Given the description of an element on the screen output the (x, y) to click on. 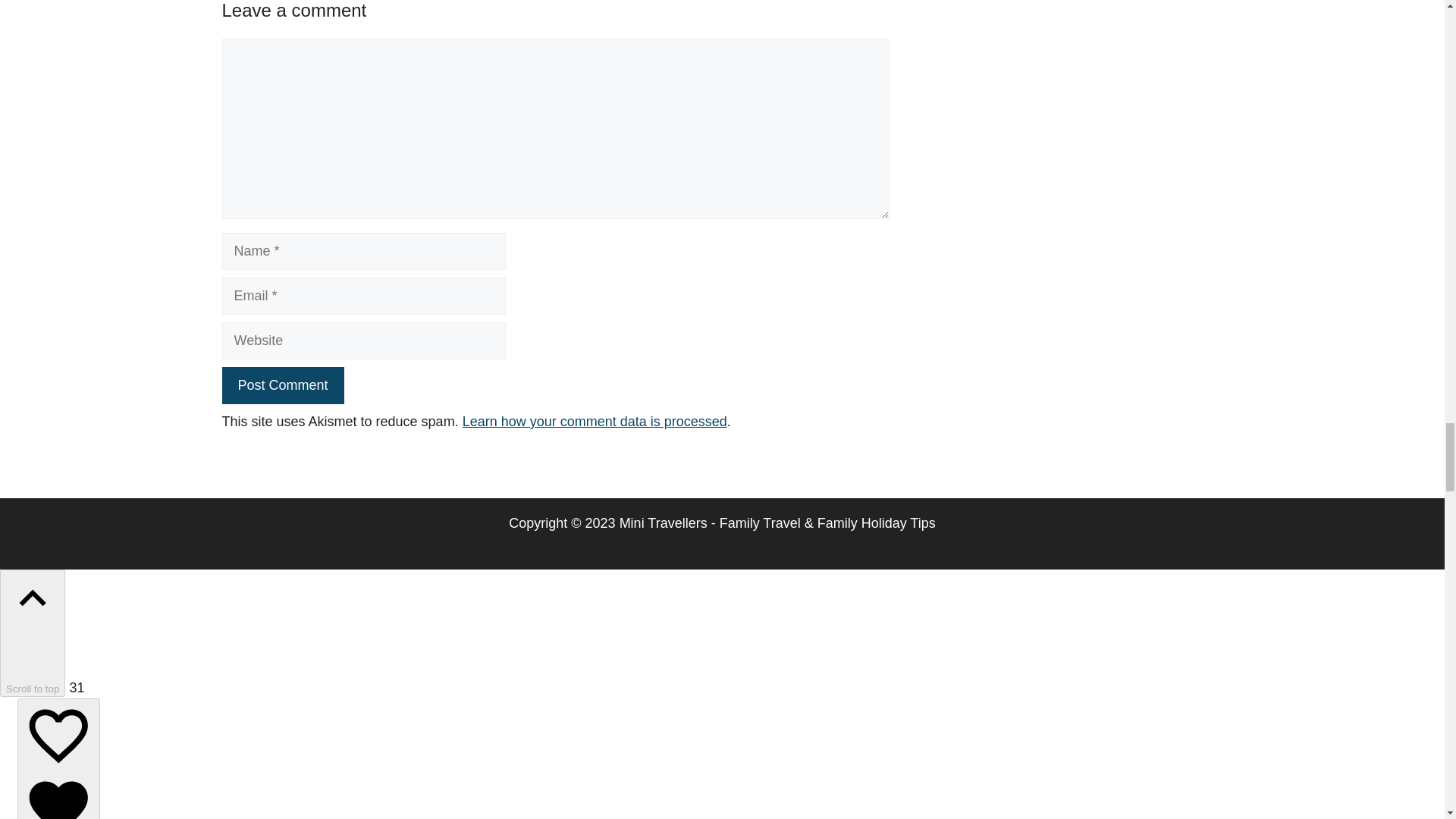
Post Comment (282, 385)
